Given the description of an element on the screen output the (x, y) to click on. 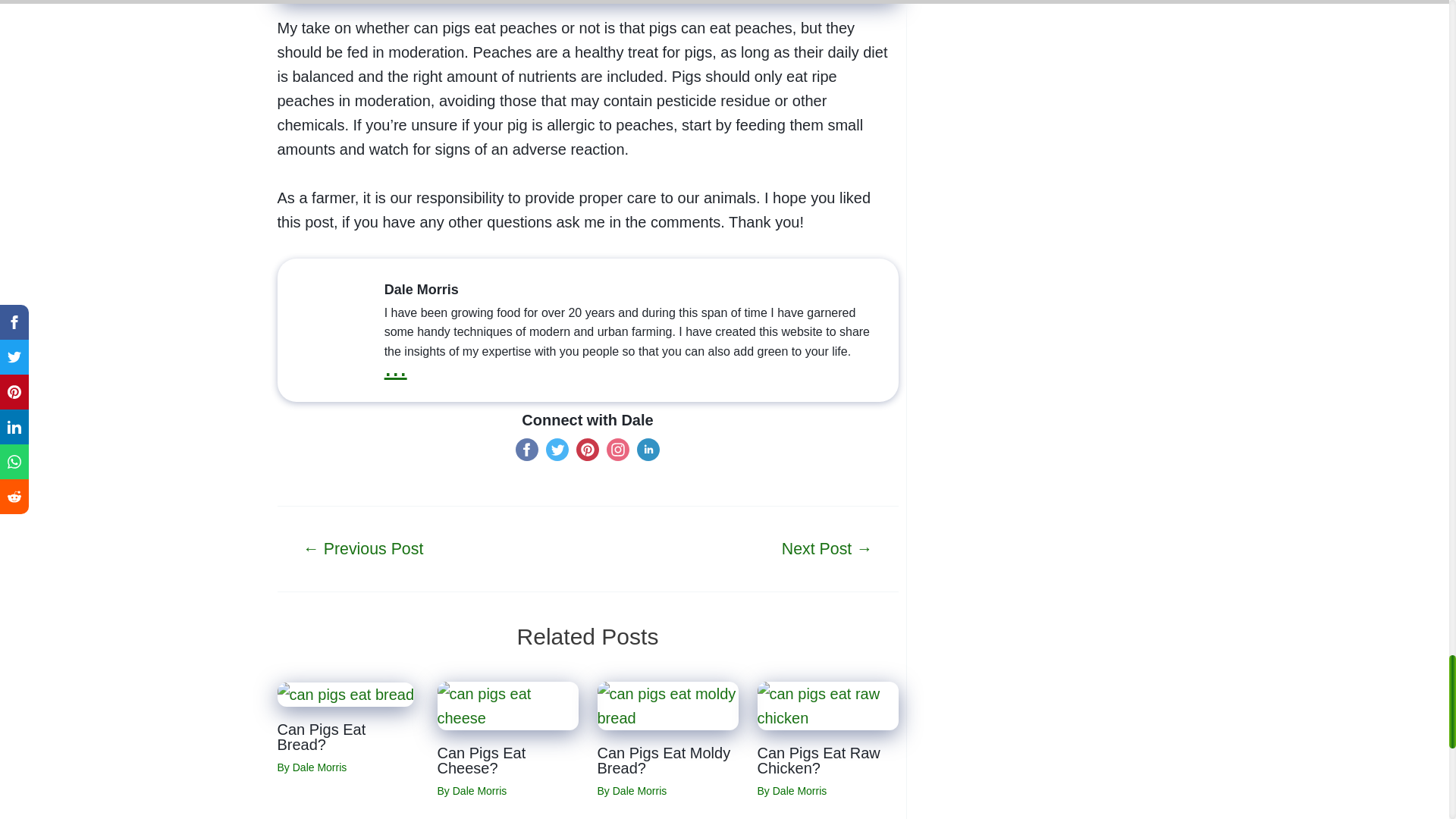
View all posts by Dale Morris (319, 767)
Can Pigs Eat Moldy Bread? (667, 705)
Can Pigs Eat Raw Chicken? (827, 705)
Can Pigs Eat Cheese? (507, 705)
View all posts by Dale Morris (639, 790)
View all posts by Dale Morris (479, 790)
Can Pigs Eat Bread? (346, 694)
View all posts by Dale Morris (800, 790)
